Given the description of an element on the screen output the (x, y) to click on. 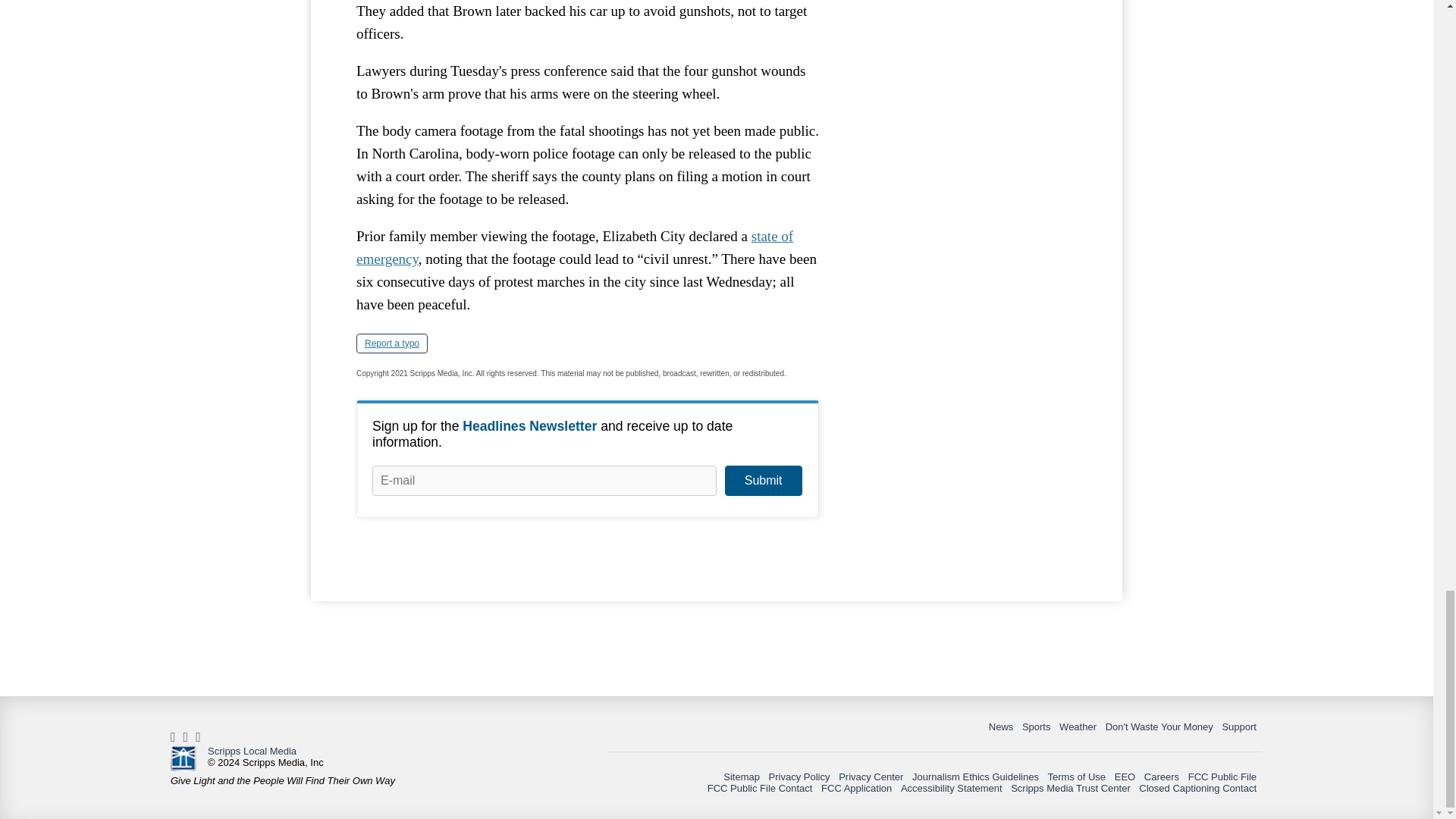
Submit (763, 481)
